Given the description of an element on the screen output the (x, y) to click on. 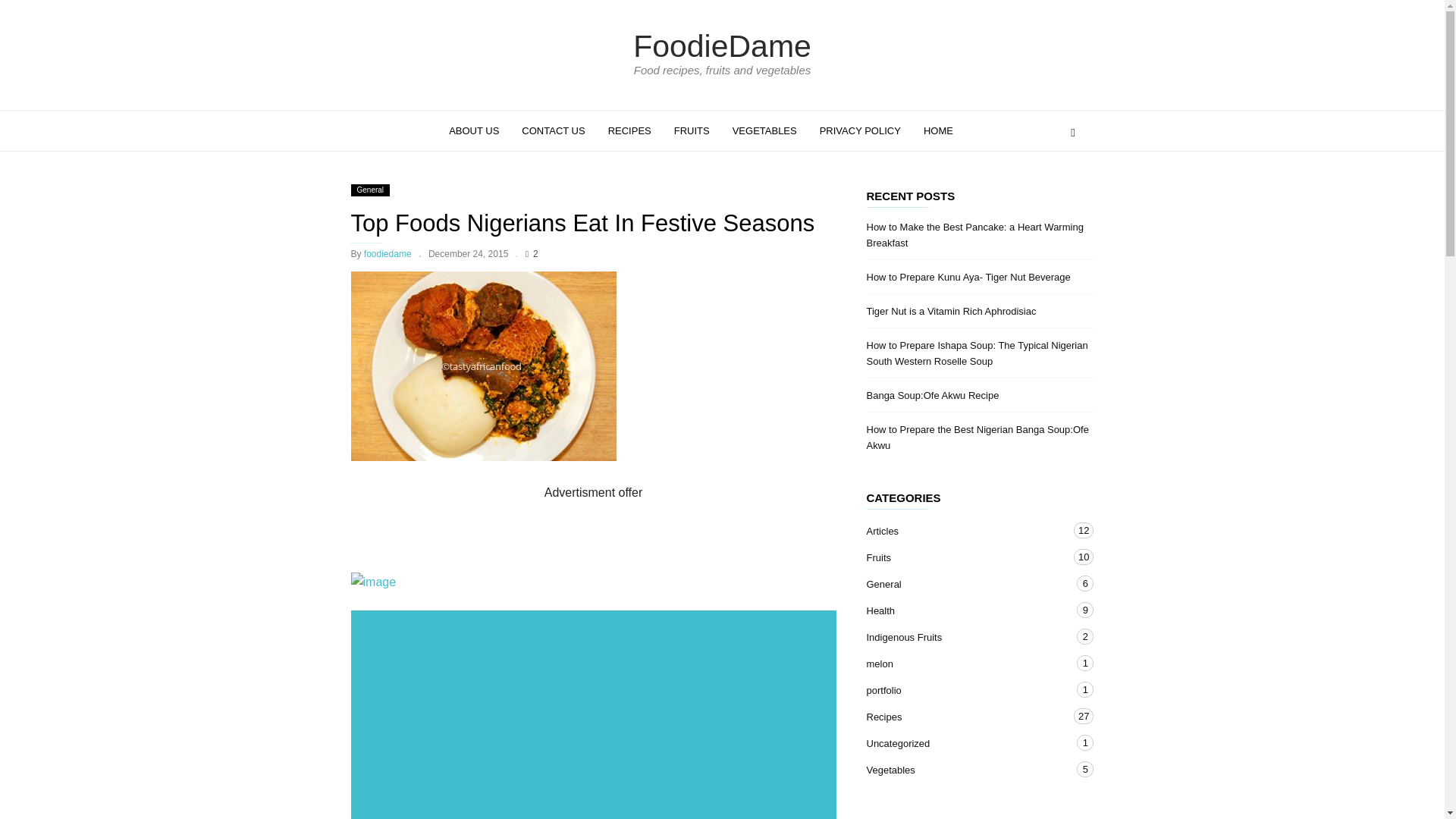
General (370, 190)
wp-1450943786320 (592, 582)
RECIPES (629, 130)
FRUITS (691, 130)
PRIVACY POLICY (860, 130)
CONTACT US (553, 130)
2 (531, 253)
Advertisement (595, 715)
HOME (937, 130)
FoodieDame (721, 45)
foodiedame (388, 253)
ABOUT US (474, 130)
VEGETABLES (764, 130)
